Given the description of an element on the screen output the (x, y) to click on. 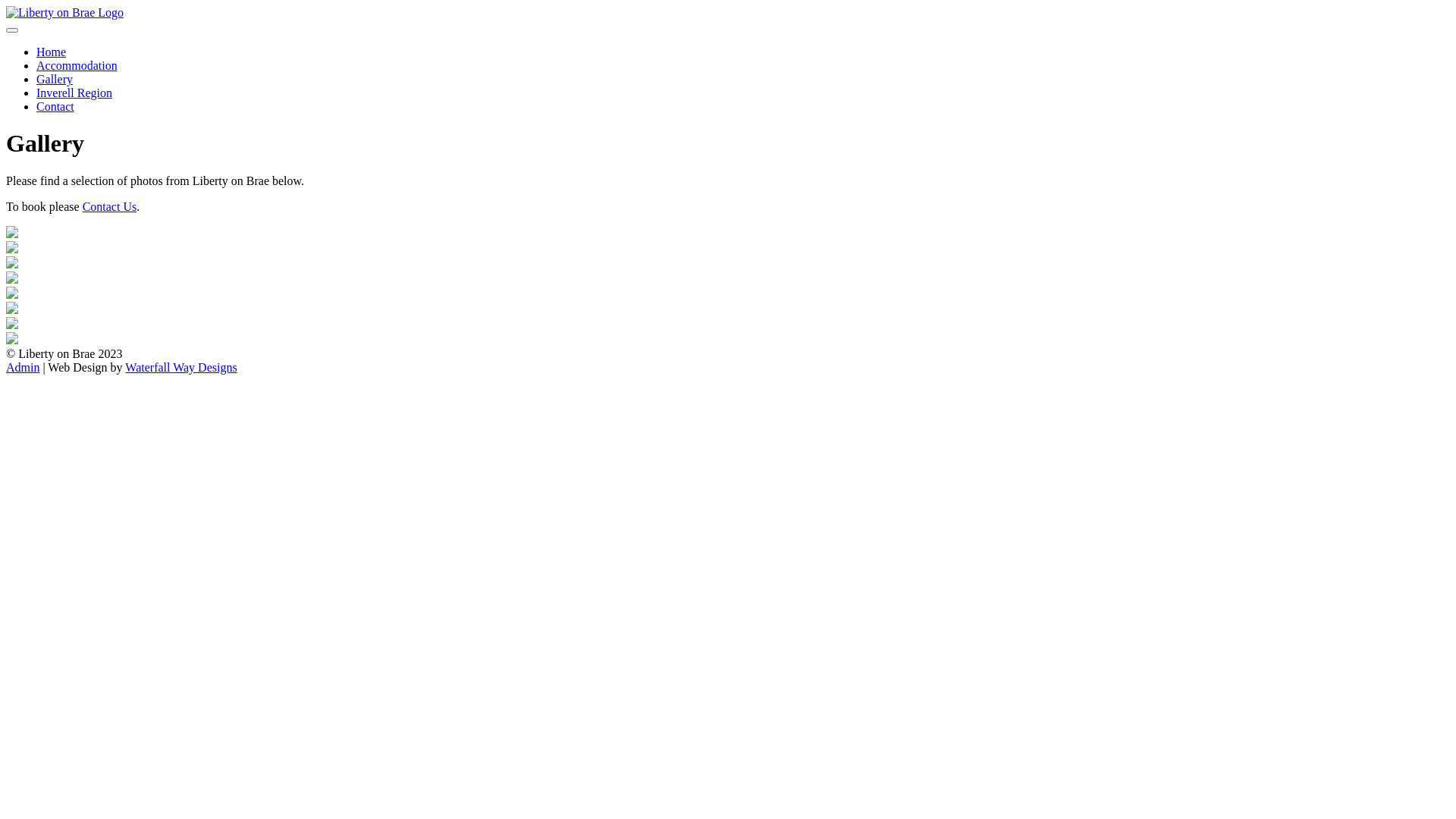
Contact Us Element type: text (109, 206)
Accommodation Element type: text (76, 65)
Waterfall Way Designs Element type: text (180, 366)
Admin Element type: text (22, 366)
Inverell Region Element type: text (74, 92)
Gallery Element type: text (54, 78)
Contact Element type: text (55, 106)
Home Element type: text (50, 51)
